Given the description of an element on the screen output the (x, y) to click on. 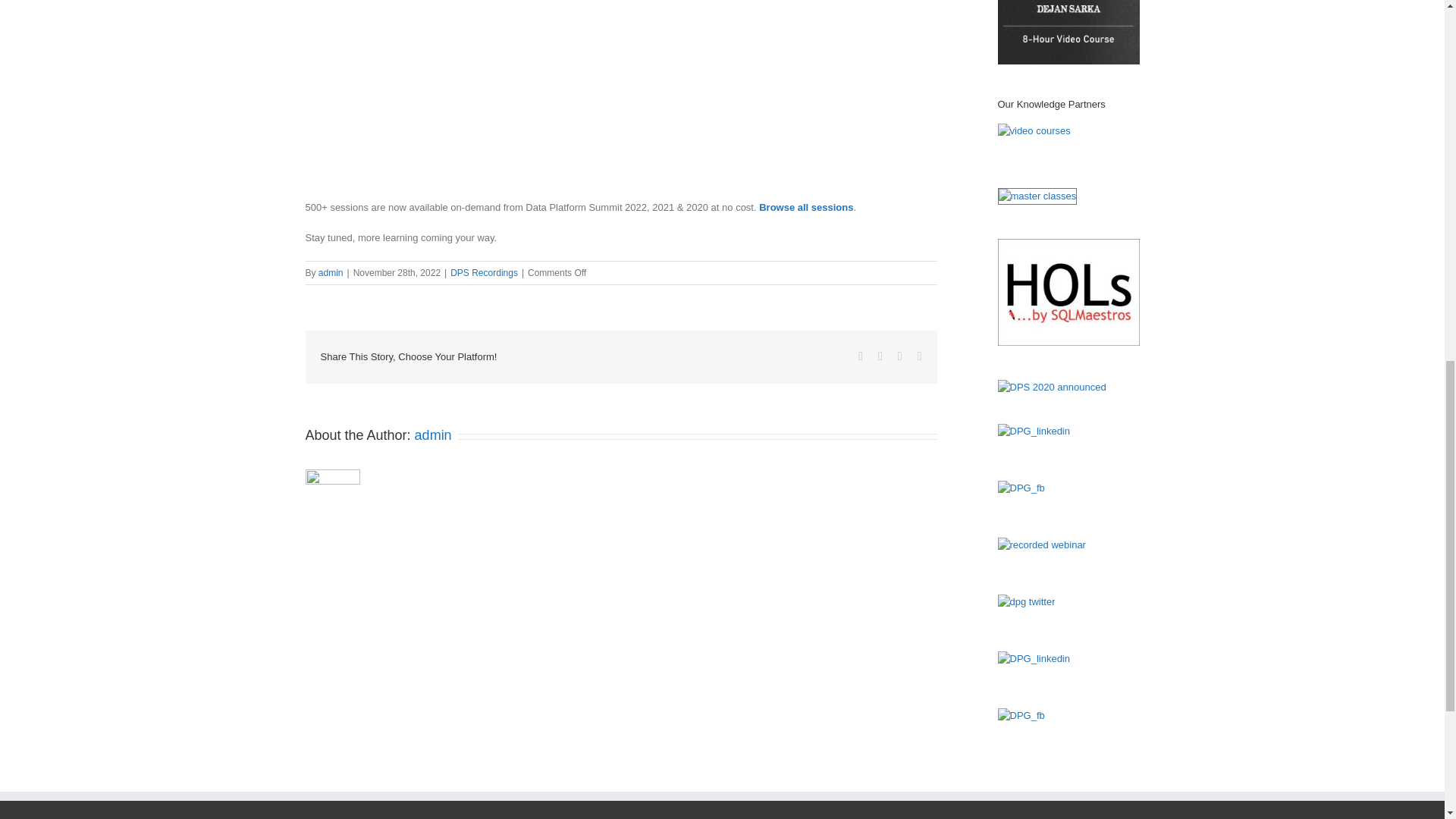
Posts by admin (330, 272)
Posts by admin (432, 435)
